Given the description of an element on the screen output the (x, y) to click on. 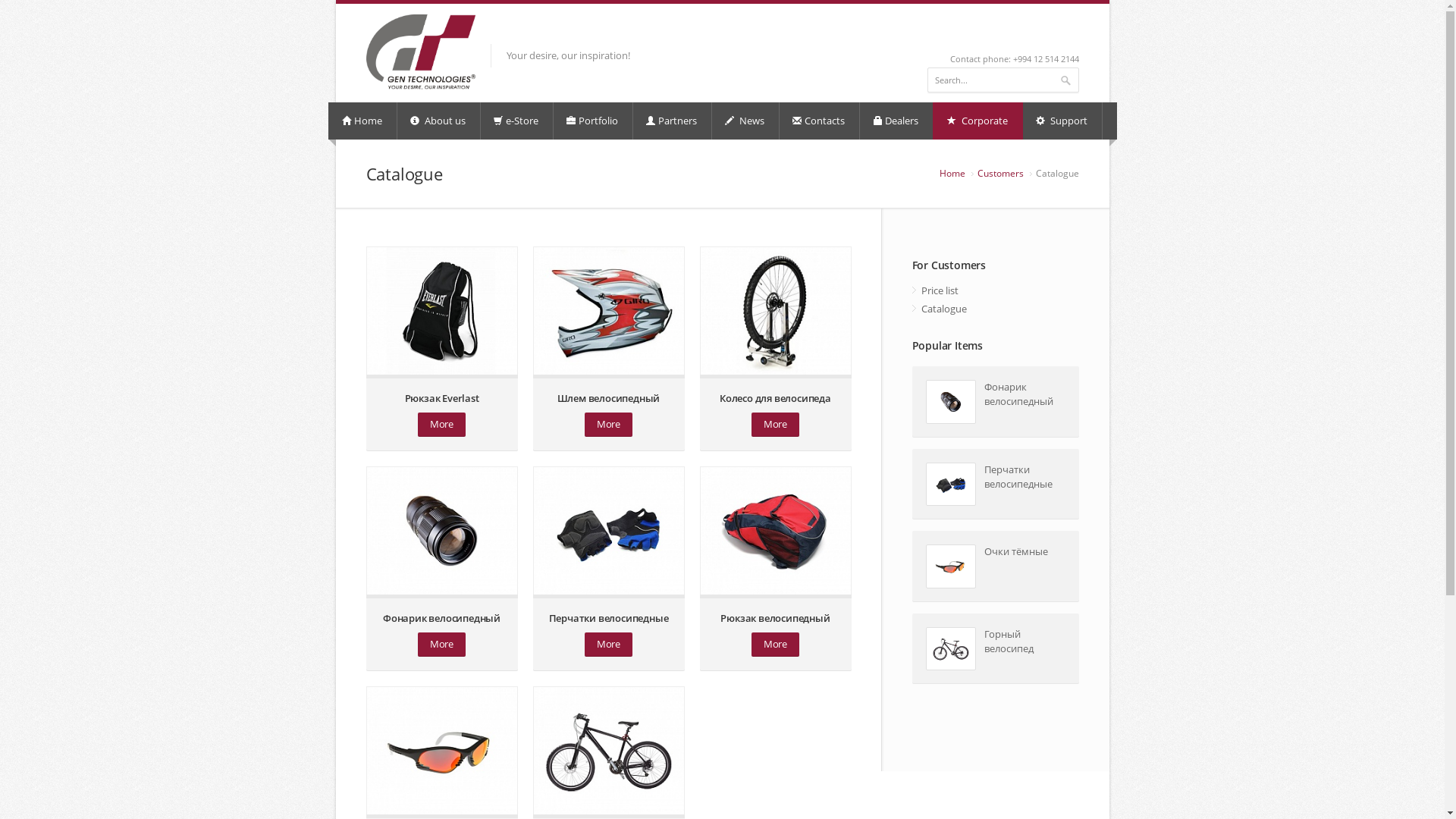
Home Element type: text (363, 120)
More Element type: text (441, 424)
About us Element type: text (438, 120)
Catalogue Element type: text (994, 308)
e-Store Element type: text (516, 120)
More Element type: text (608, 644)
More Element type: text (775, 424)
Customers Element type: text (999, 172)
More Element type: text (441, 644)
More Element type: text (775, 644)
Dealers Element type: text (896, 120)
Price list Element type: text (994, 290)
Home Element type: text (951, 172)
Support Element type: text (1061, 120)
Portfolio Element type: text (593, 120)
Partners Element type: text (671, 120)
Contacts Element type: text (819, 120)
More Element type: text (608, 424)
News Element type: text (744, 120)
Corporate Element type: text (977, 120)
